Given the description of an element on the screen output the (x, y) to click on. 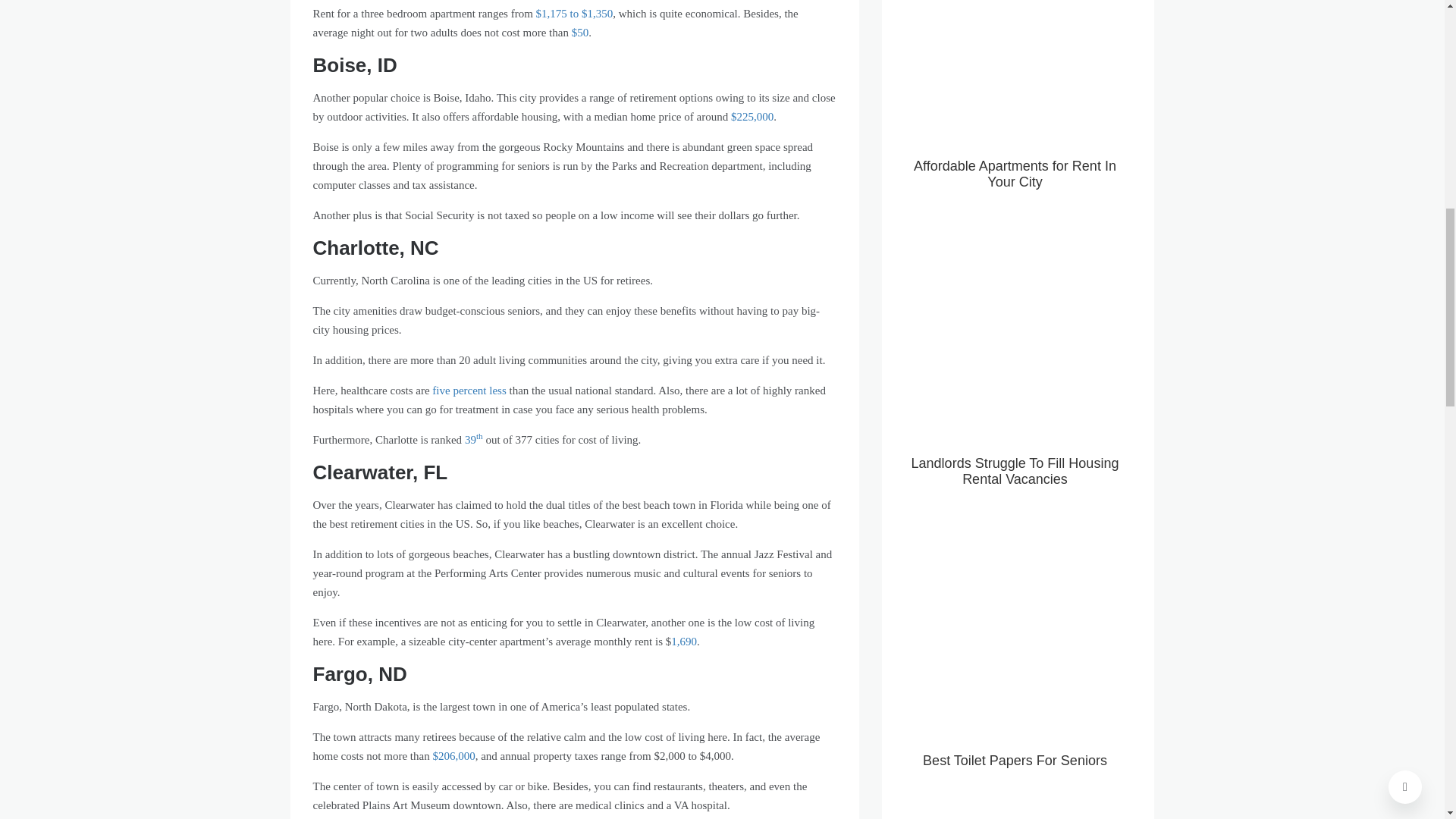
Affordable Apartments for Rent In Your City (1014, 108)
1,690 (684, 641)
39th (473, 439)
five percent less (468, 390)
